Given the description of an element on the screen output the (x, y) to click on. 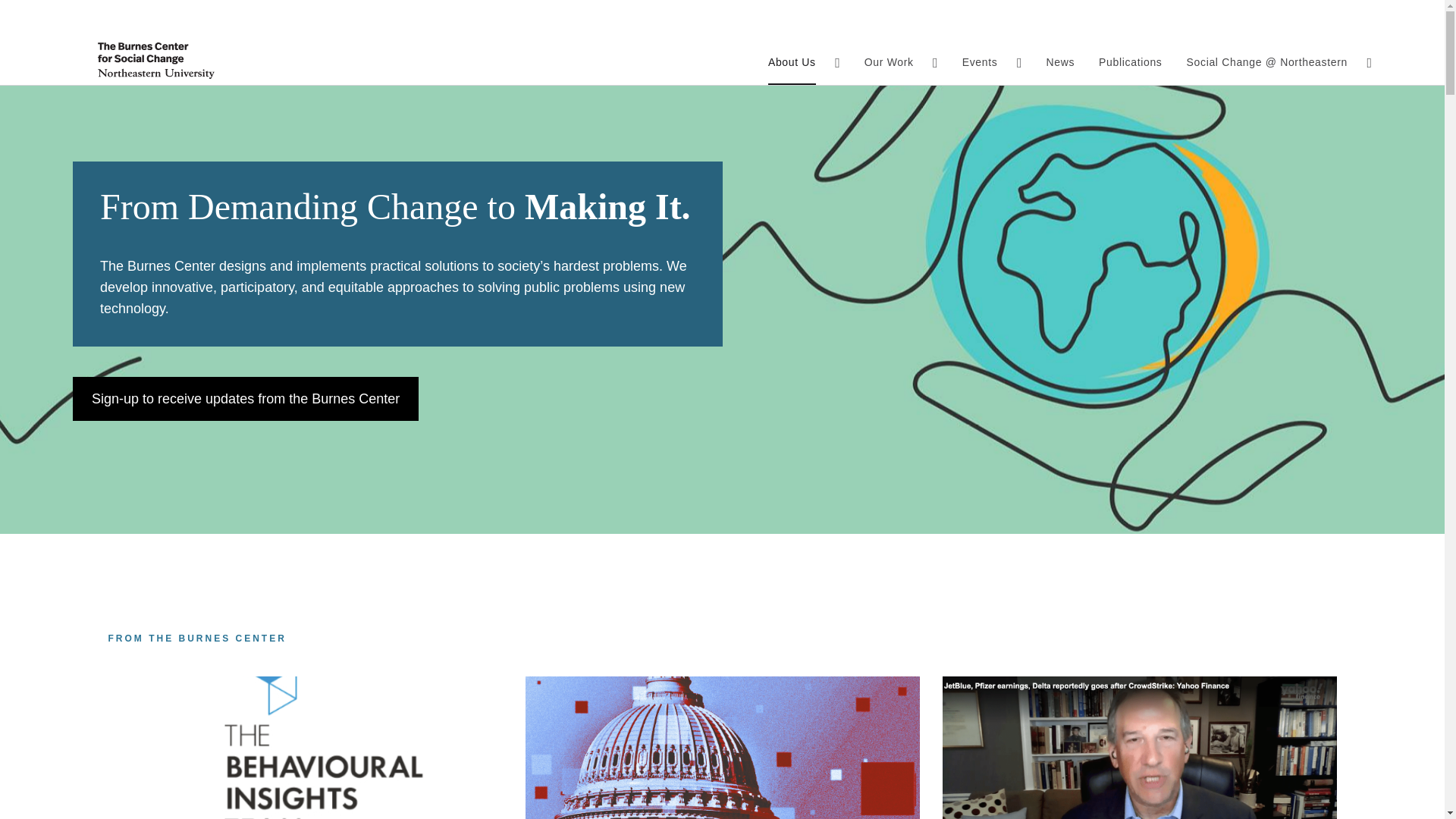
Our Work (889, 60)
Visit The Burnes Center for Social Change (185, 60)
Publications (1130, 60)
About Us (791, 60)
Sign-up to receive updates from the Burnes Center (245, 398)
